Given the description of an element on the screen output the (x, y) to click on. 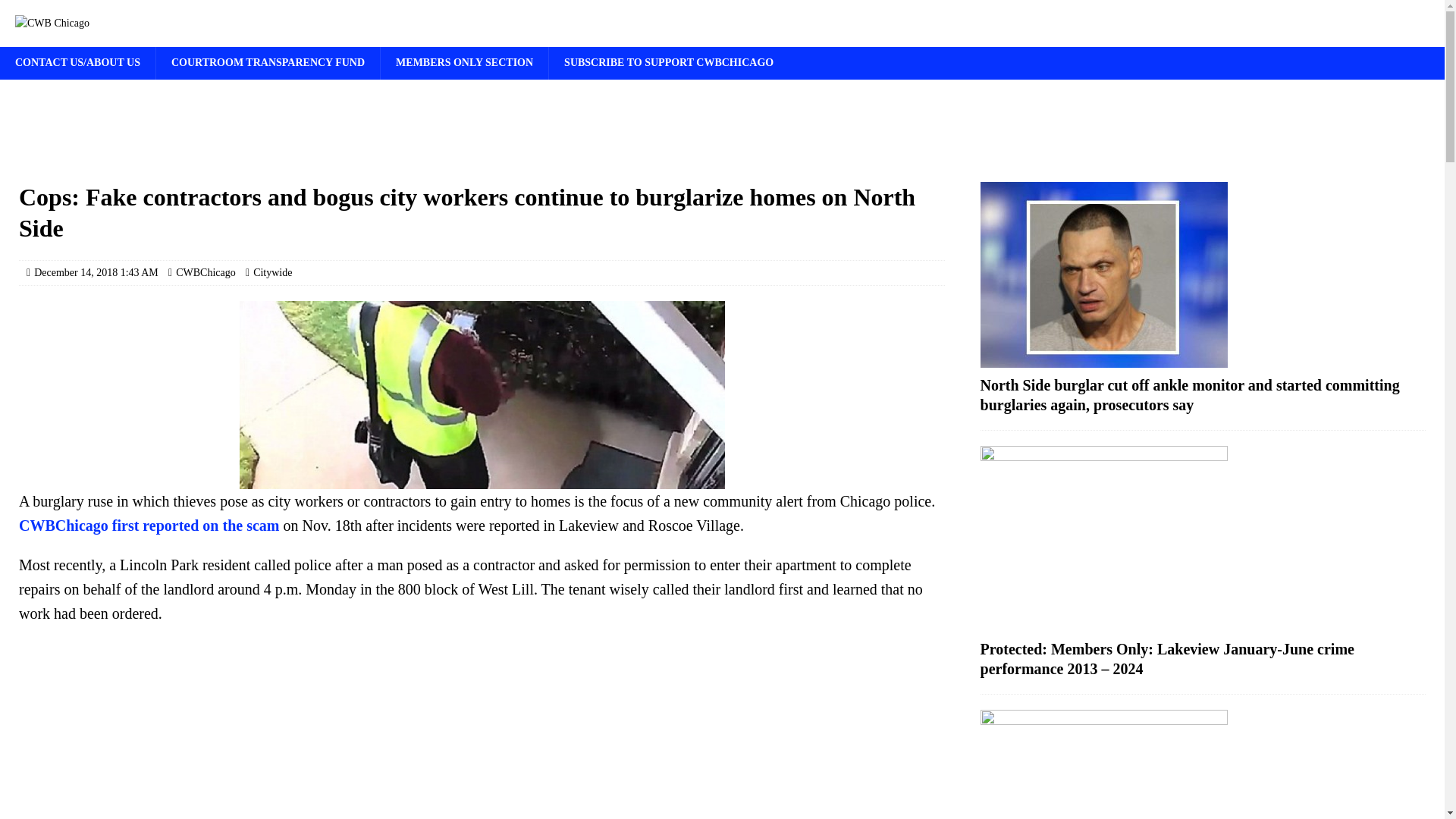
MEMBERS ONLY SECTION (464, 62)
Citywide (272, 272)
December 14, 2018 1:43 AM (95, 272)
CWBChicago (205, 272)
CWBChicago first reported on the scam (148, 524)
SUBSCRIBE TO SUPPORT CWBCHICAGO (668, 62)
COURTROOM TRANSPARENCY FUND (267, 62)
